Given the description of an element on the screen output the (x, y) to click on. 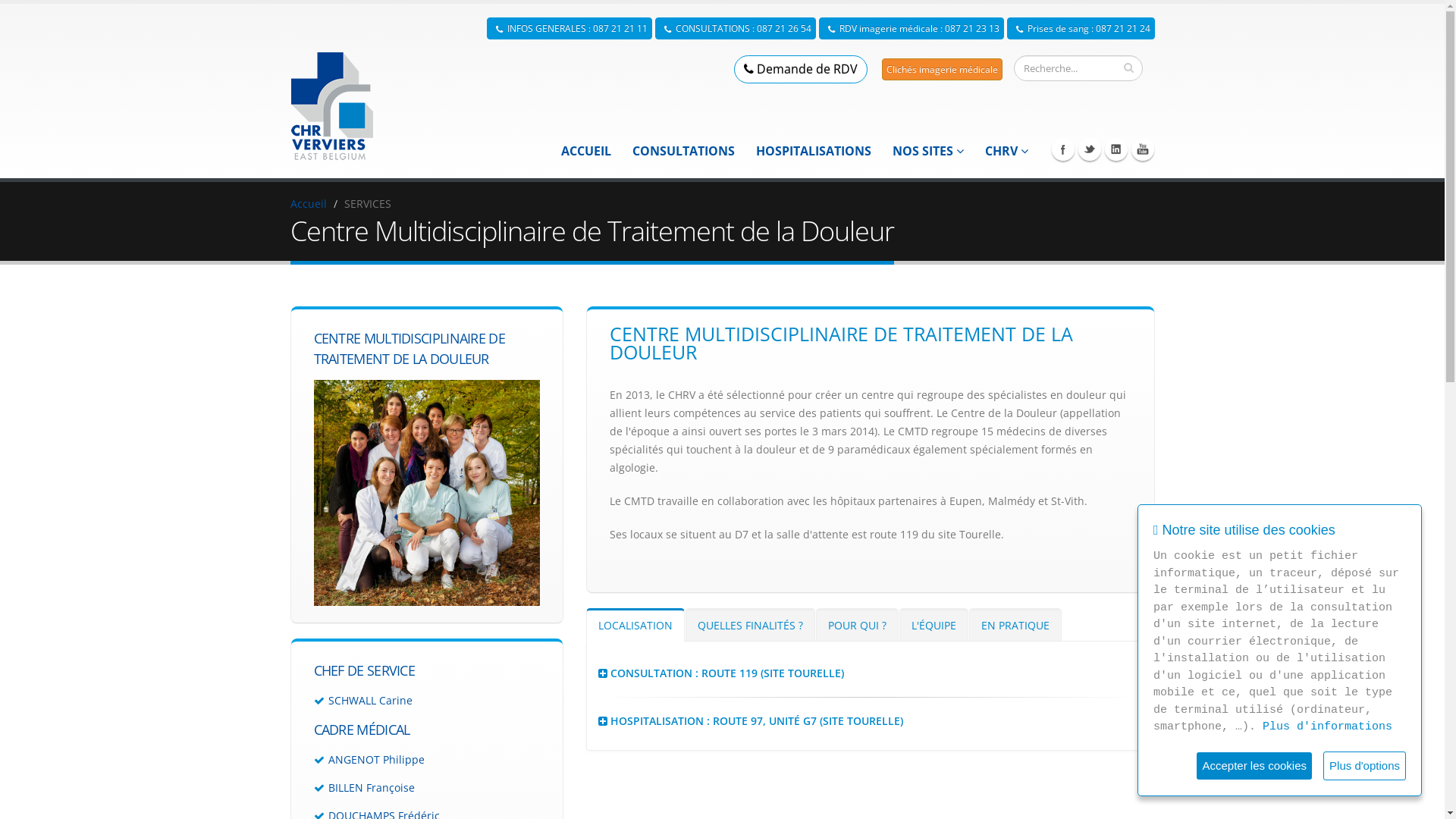
LOCALISATION Element type: text (634, 624)
Linkedin Element type: text (1115, 149)
Accepter les cookies Element type: text (1253, 766)
CHRV Element type: text (1006, 150)
EN PRATIQUE Element type: text (1015, 624)
CONSULTATIONS Element type: text (682, 150)
Plus d'options Element type: text (1364, 765)
HOSPITALISATIONS Element type: text (813, 150)
Demande de RDV Element type: text (800, 69)
SCHWALL Carine Element type: text (369, 700)
Twitter Element type: text (1089, 149)
Youtube Element type: text (1142, 149)
Plus d'informations Element type: text (1327, 727)
Facebook Element type: text (1062, 149)
NOS SITES Element type: text (927, 150)
POUR QUI ? Element type: text (856, 624)
Accueil Element type: text (307, 203)
ACCUEIL Element type: text (585, 150)
ANGENOT Philippe Element type: text (375, 759)
